Given the description of an element on the screen output the (x, y) to click on. 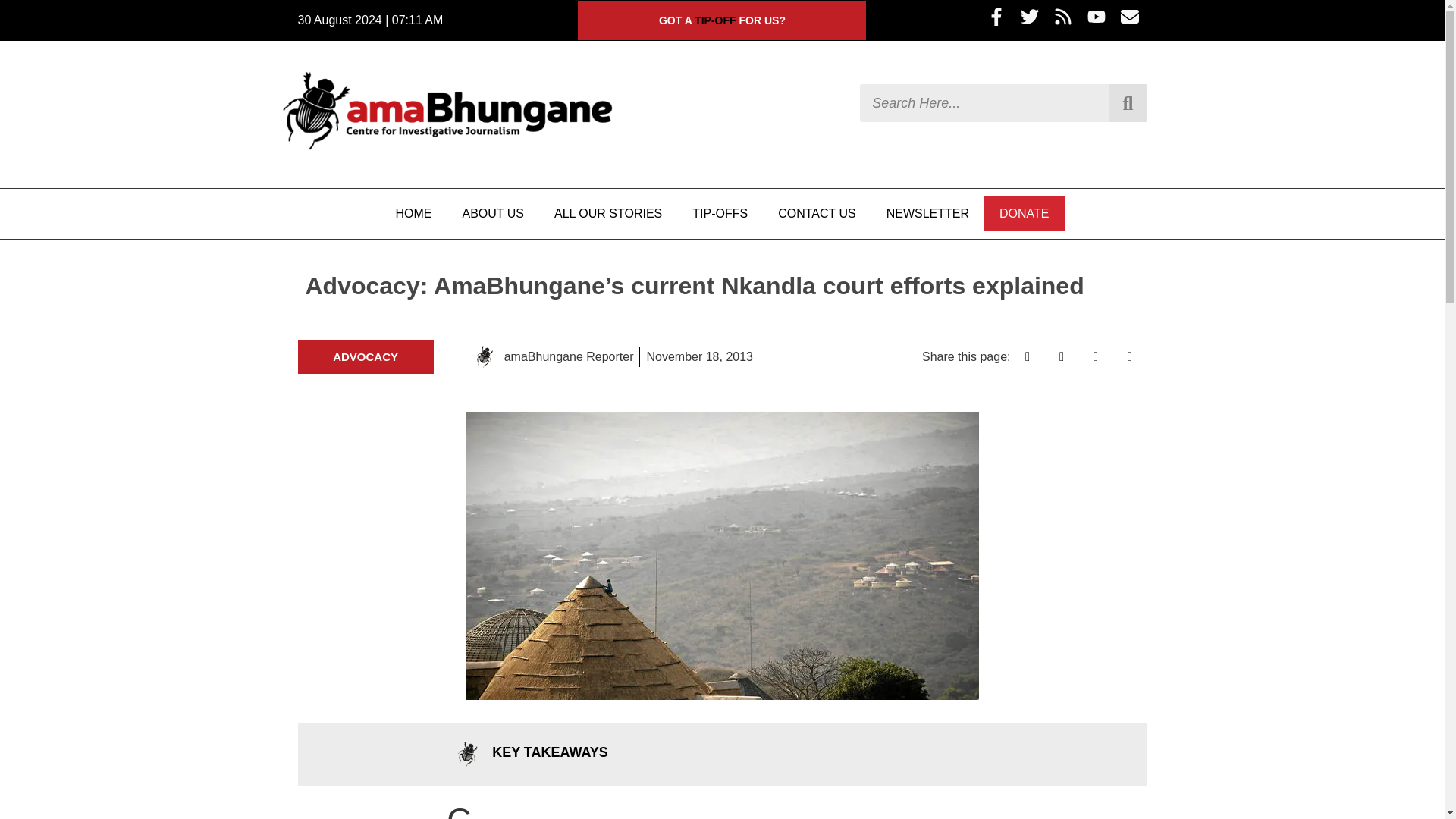
HOME (413, 213)
ALL OUR STORIES (607, 213)
ABOUT US (492, 213)
GOT A TIP-OFF FOR US? (722, 20)
